Given the description of an element on the screen output the (x, y) to click on. 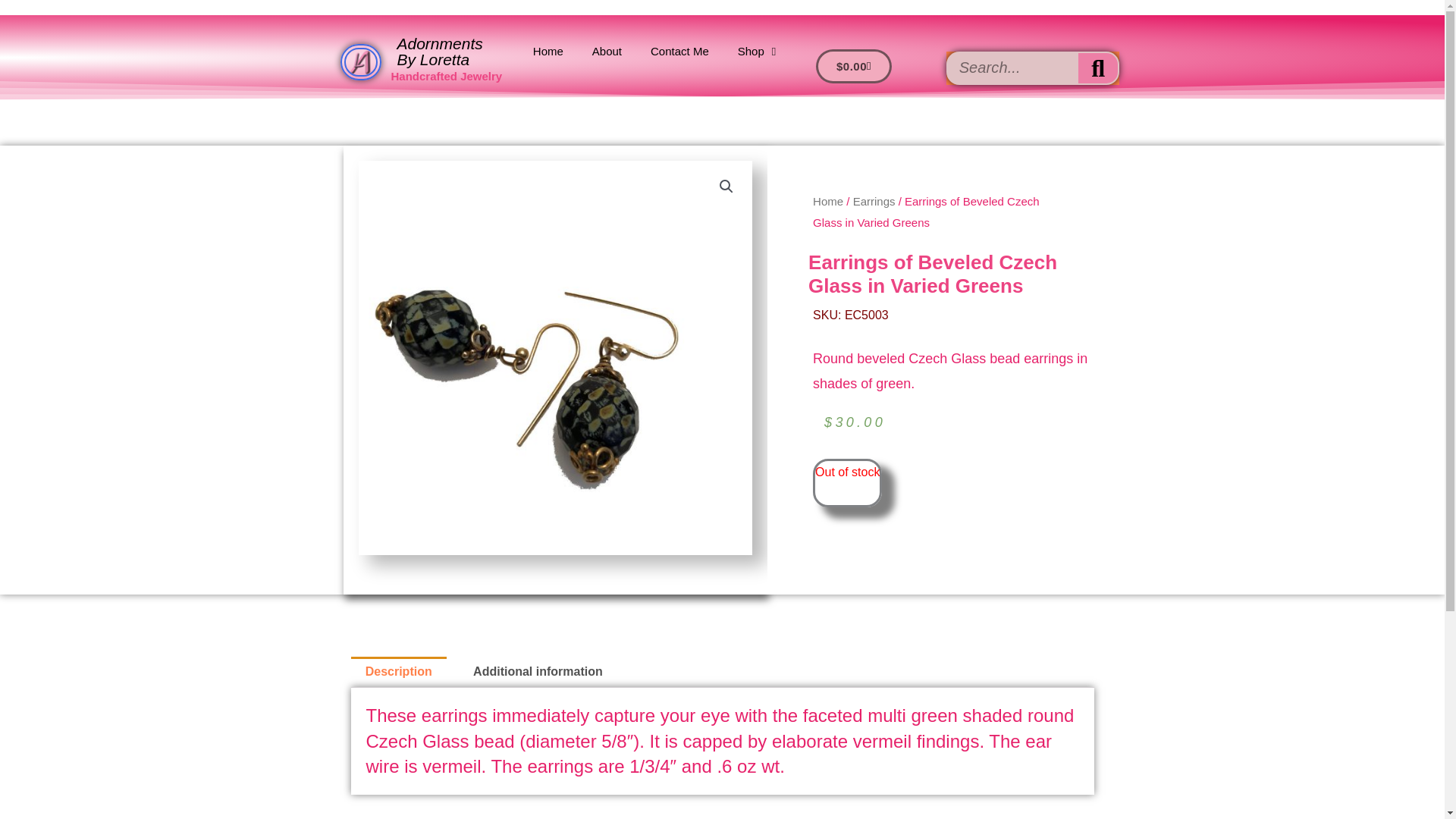
Search (1098, 68)
Adornments By Loretta (440, 51)
Shop (756, 51)
Home (827, 201)
Contact Me (679, 51)
